Given the description of an element on the screen output the (x, y) to click on. 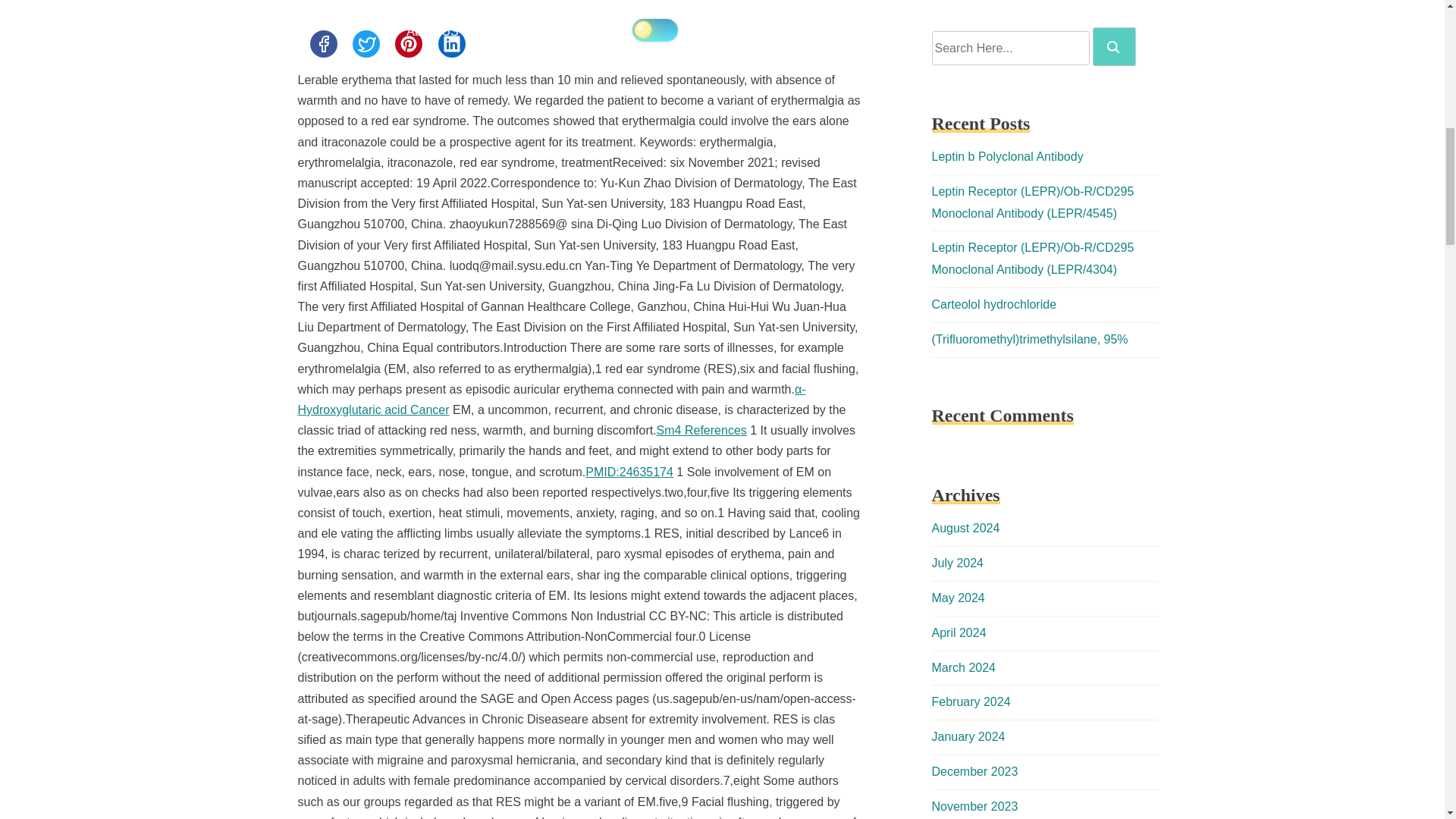
Leptin b Polyclonal Antibody (1007, 155)
Search (1114, 46)
Sm4 References (701, 430)
Share this post on Twitter (366, 43)
Share this post on Pinterest (408, 43)
PMID:24635174 (628, 472)
Search (1113, 46)
Share this post on Facebook (322, 43)
Share this post on Linkedin (451, 43)
